Given the description of an element on the screen output the (x, y) to click on. 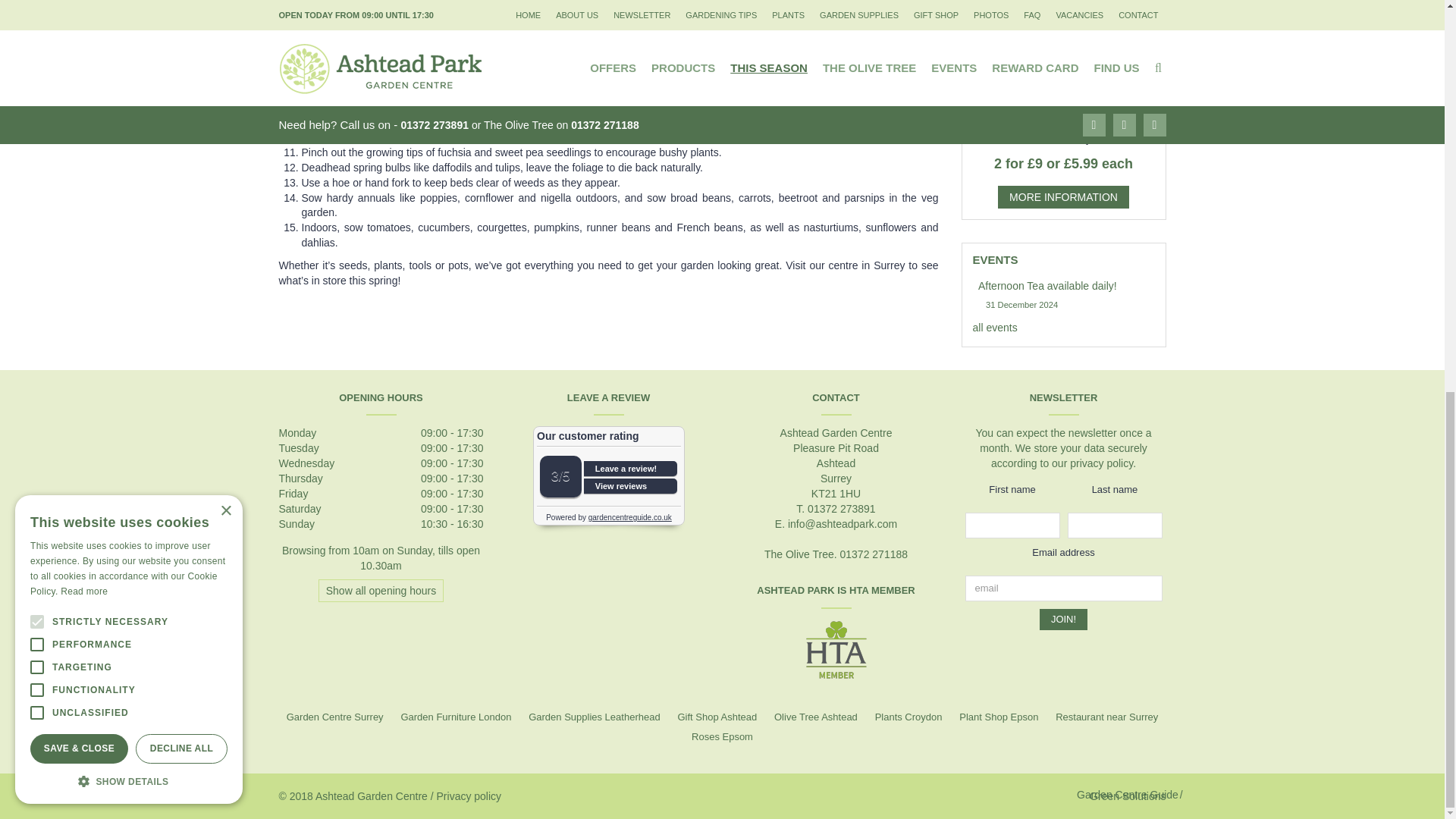
Join! (1063, 619)
